Given the description of an element on the screen output the (x, y) to click on. 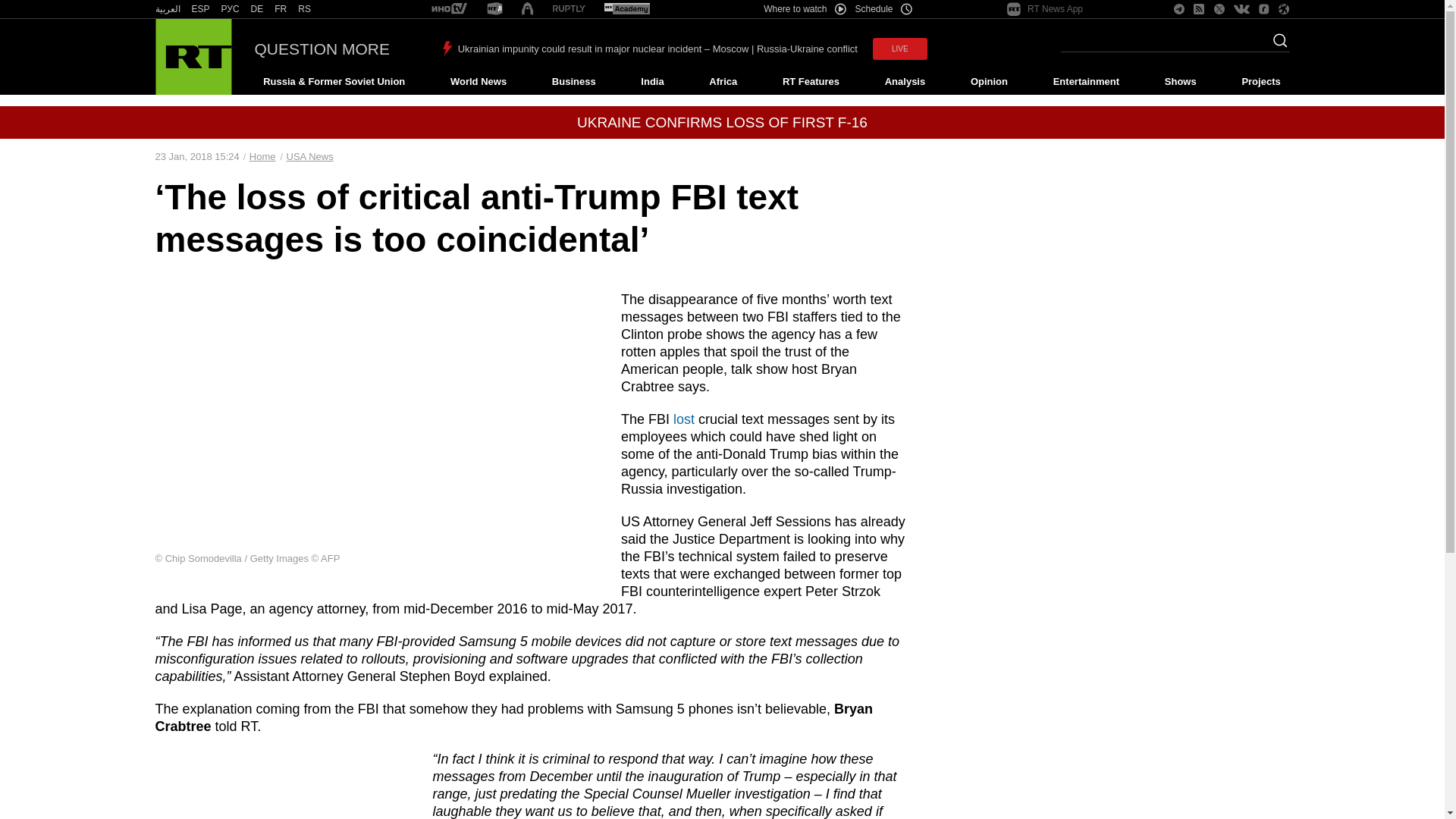
RT  (166, 9)
FR (280, 9)
Projects (1261, 81)
RT Features (810, 81)
RT  (230, 9)
Schedule (884, 9)
RT  (256, 9)
RT  (304, 9)
Search (1276, 44)
Shows (1180, 81)
